Given the description of an element on the screen output the (x, y) to click on. 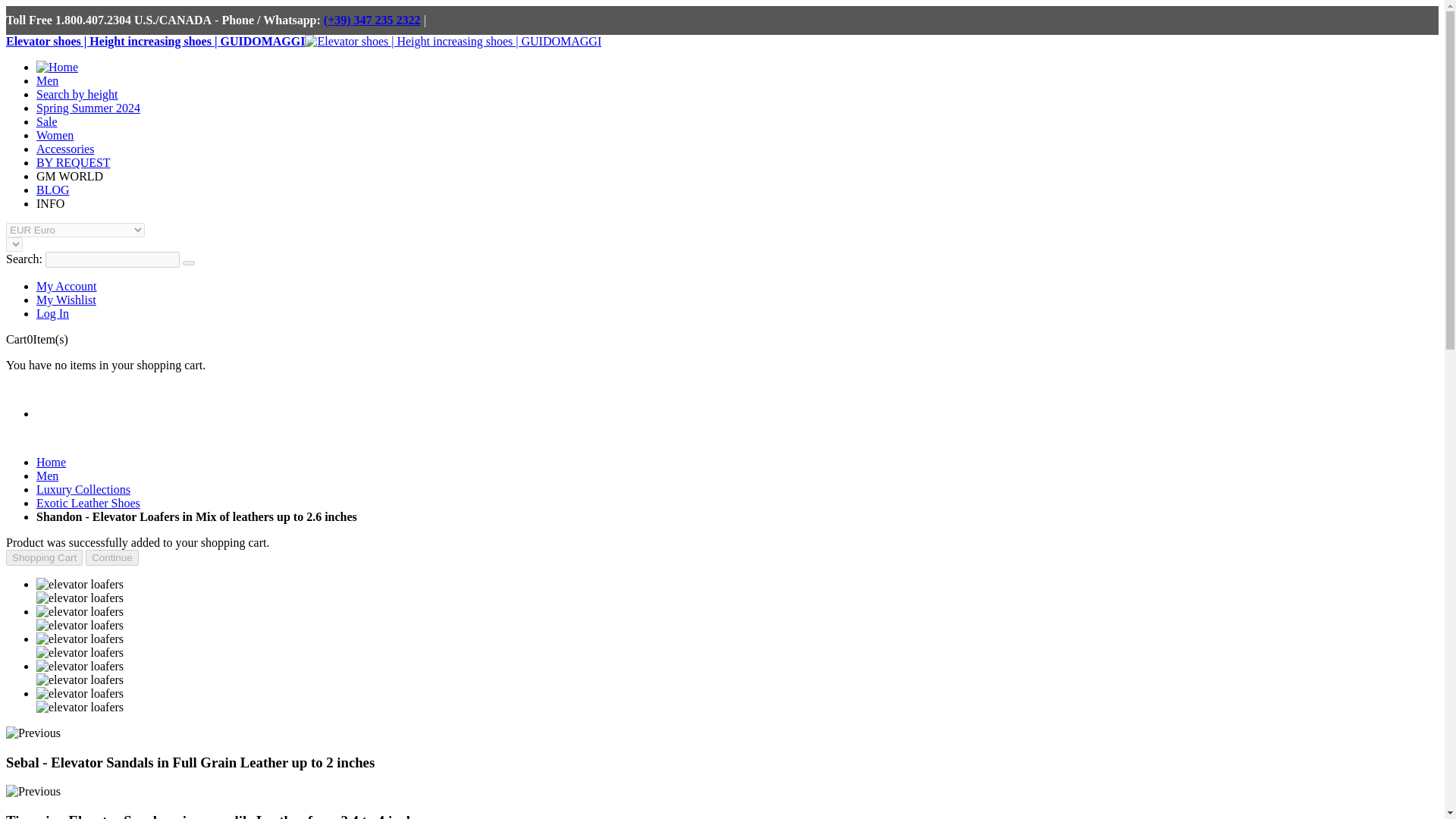
My Wishlist (66, 299)
Go to Home Page (50, 461)
GM WORLD (69, 175)
Log In (52, 313)
My Account (66, 286)
INFO (50, 203)
Women (55, 134)
Search by height (76, 93)
Search (189, 263)
Select Your Currency (74, 229)
